Given the description of an element on the screen output the (x, y) to click on. 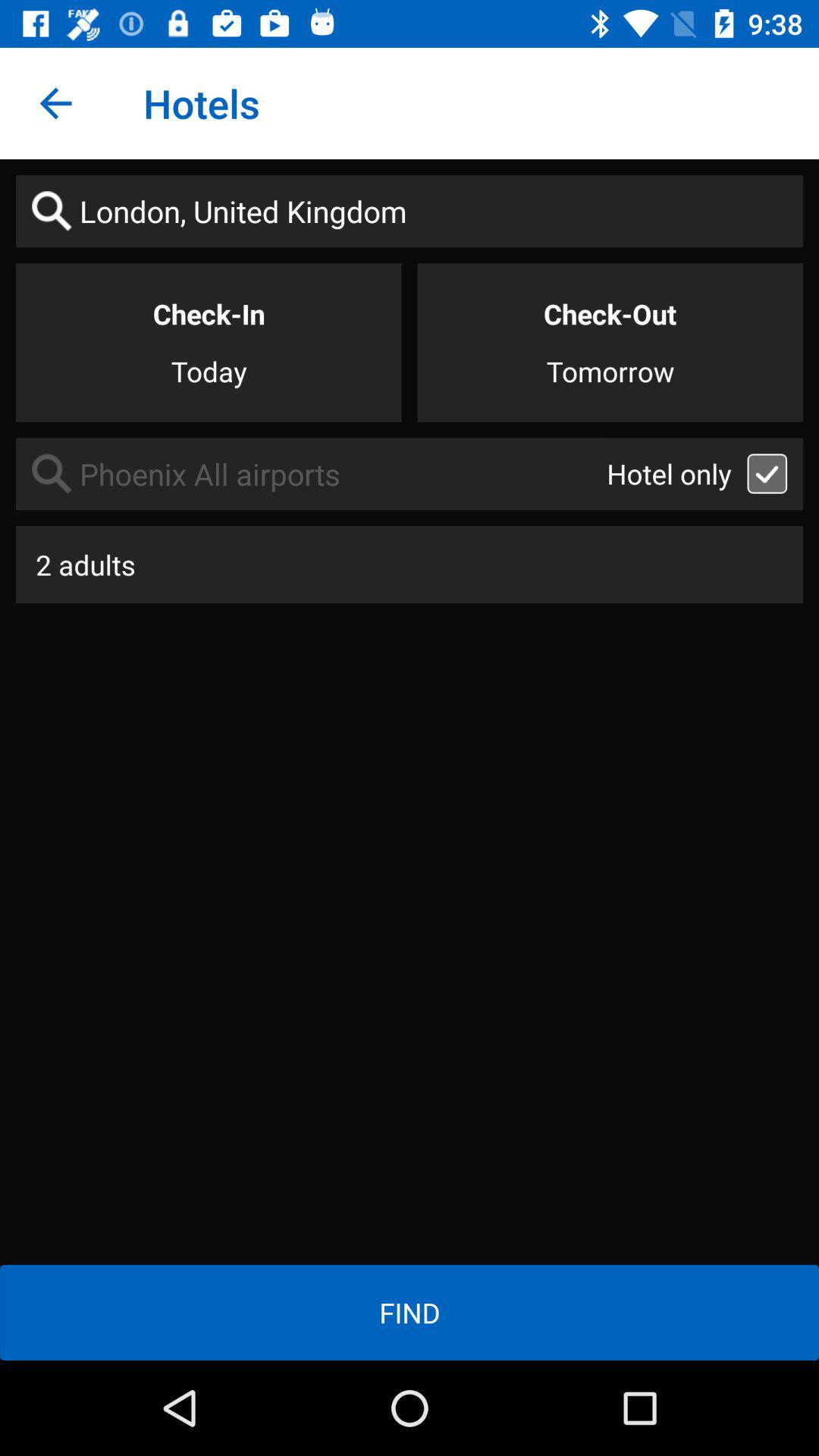
choose the item above 2 adults icon (310, 473)
